Given the description of an element on the screen output the (x, y) to click on. 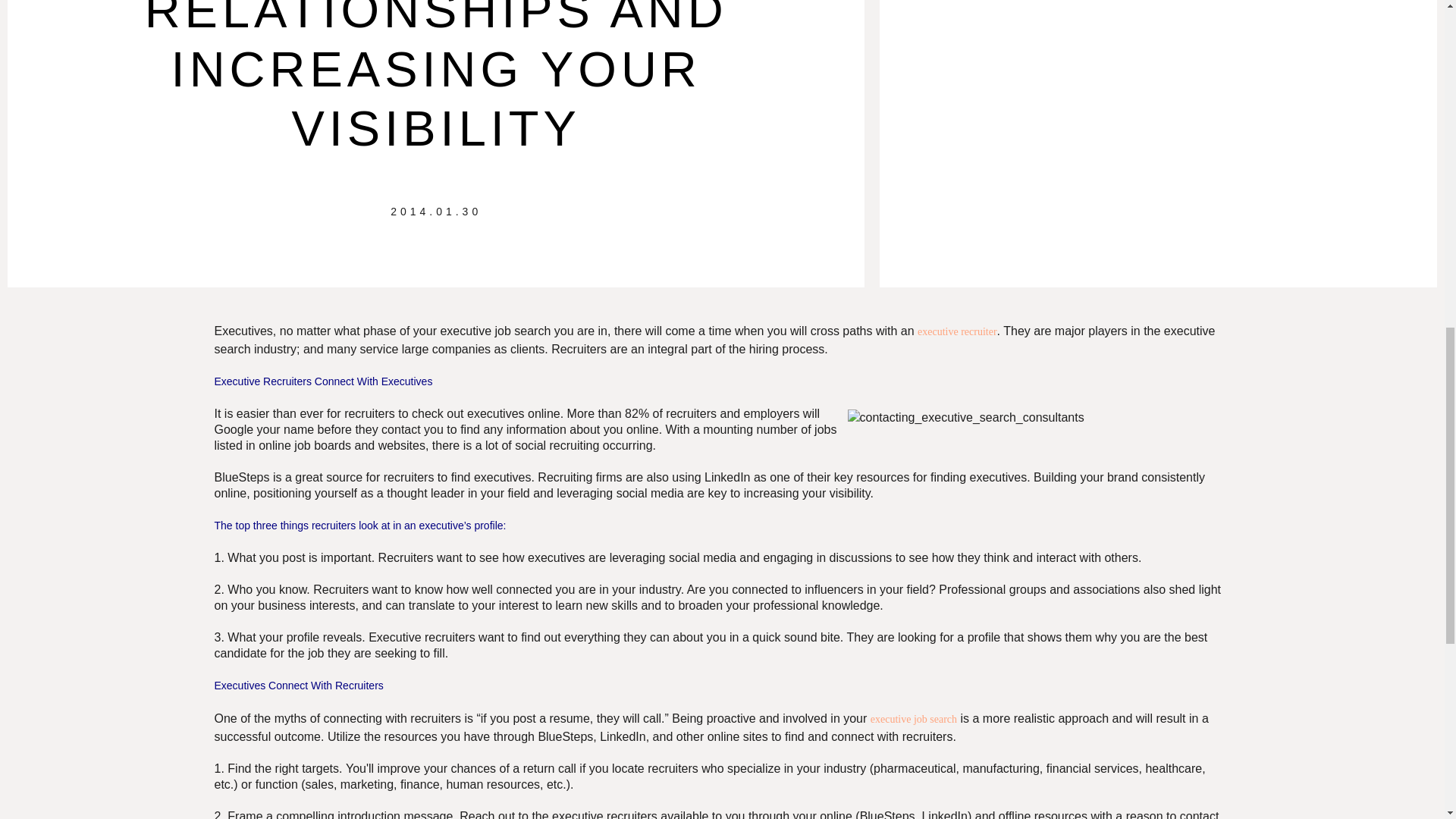
executive recruiter (957, 331)
